Given the description of an element on the screen output the (x, y) to click on. 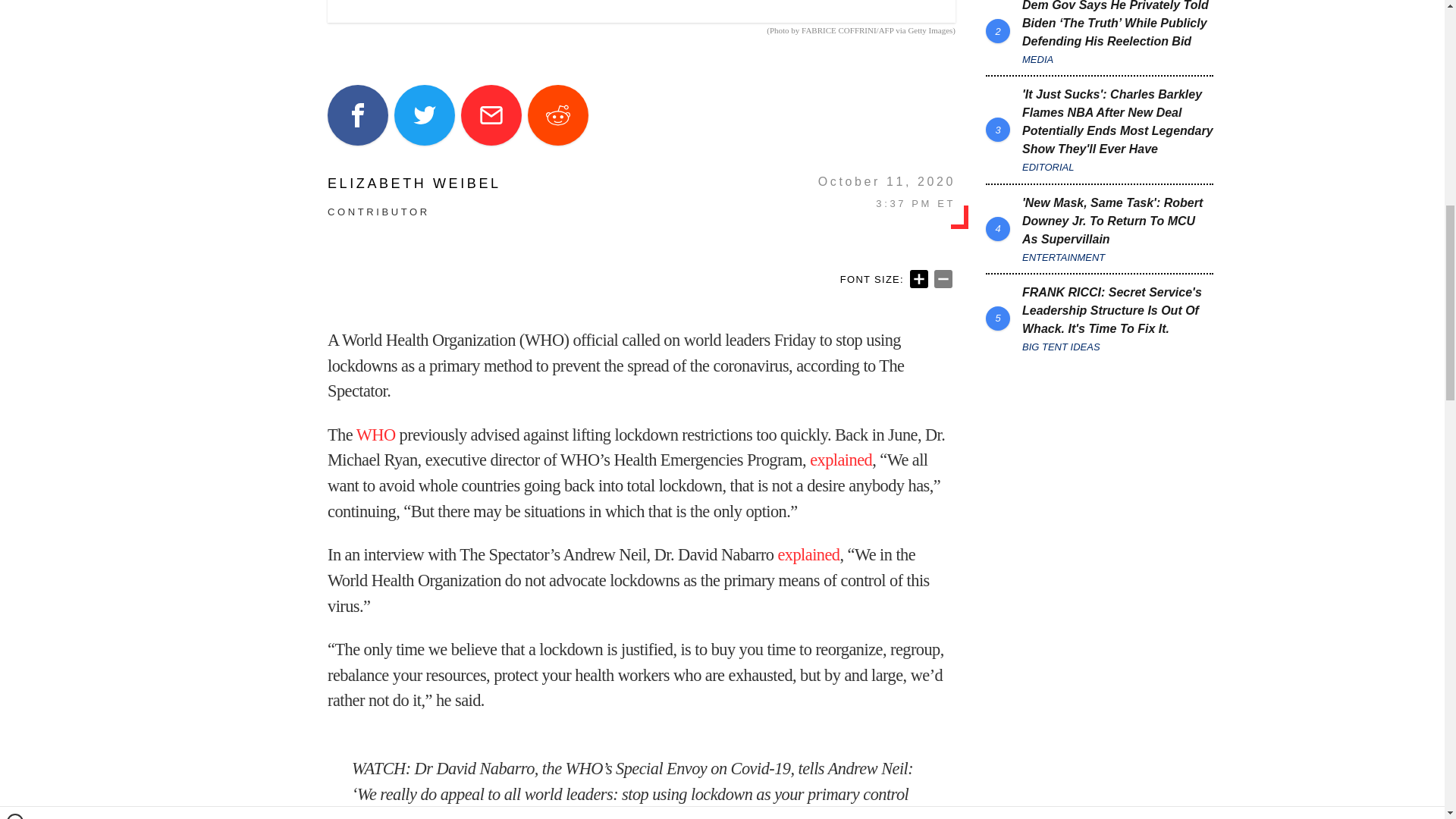
SWITZERLAND-WHO-HEALTH-VIRUS (641, 11)
ELIZABETH WEIBEL (413, 183)
explained (840, 459)
View More Articles By Elizabeth Weibel (413, 183)
Close window (14, 6)
WHO (376, 434)
